Given the description of an element on the screen output the (x, y) to click on. 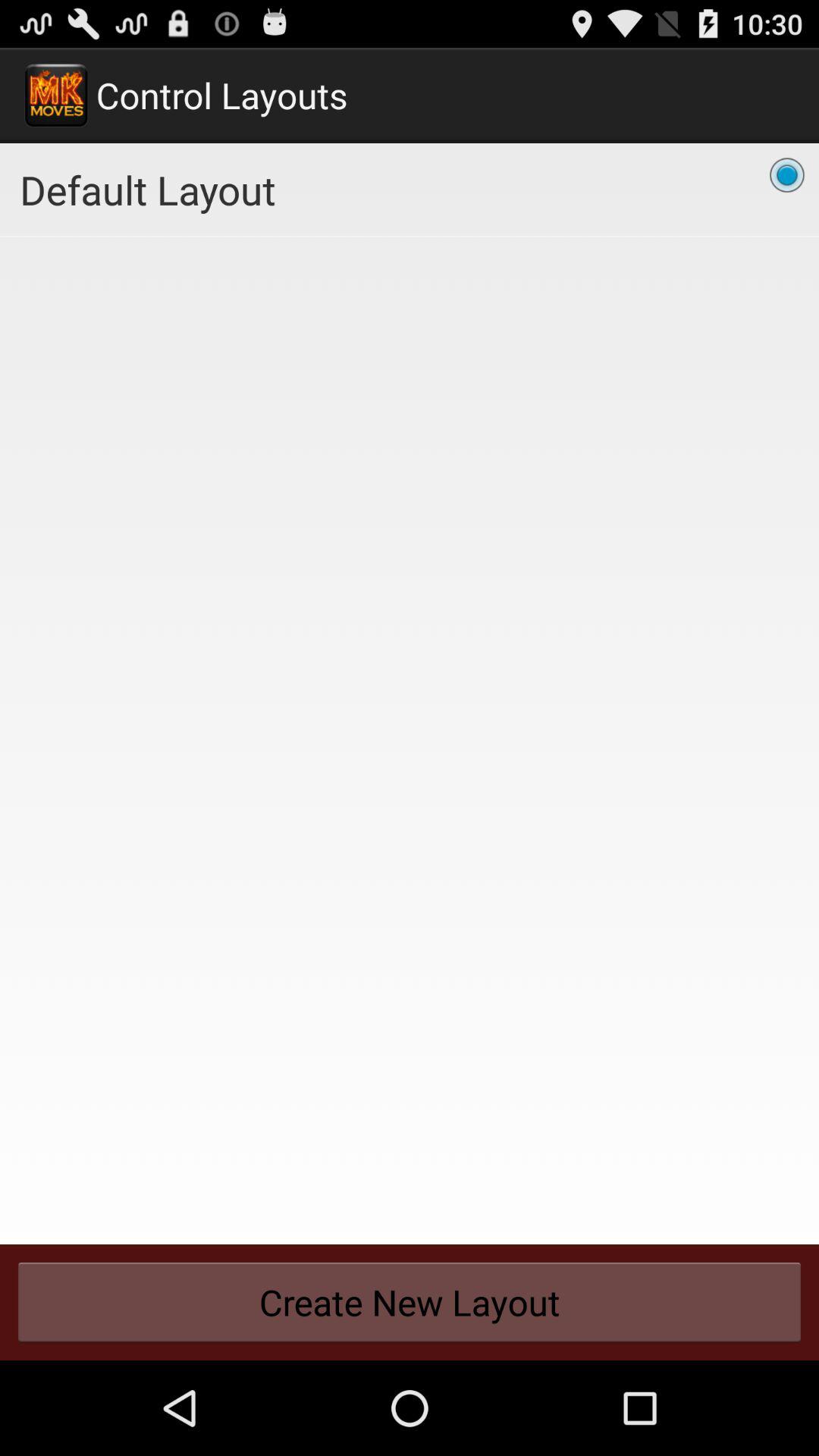
press create new layout at the bottom (409, 1302)
